Given the description of an element on the screen output the (x, y) to click on. 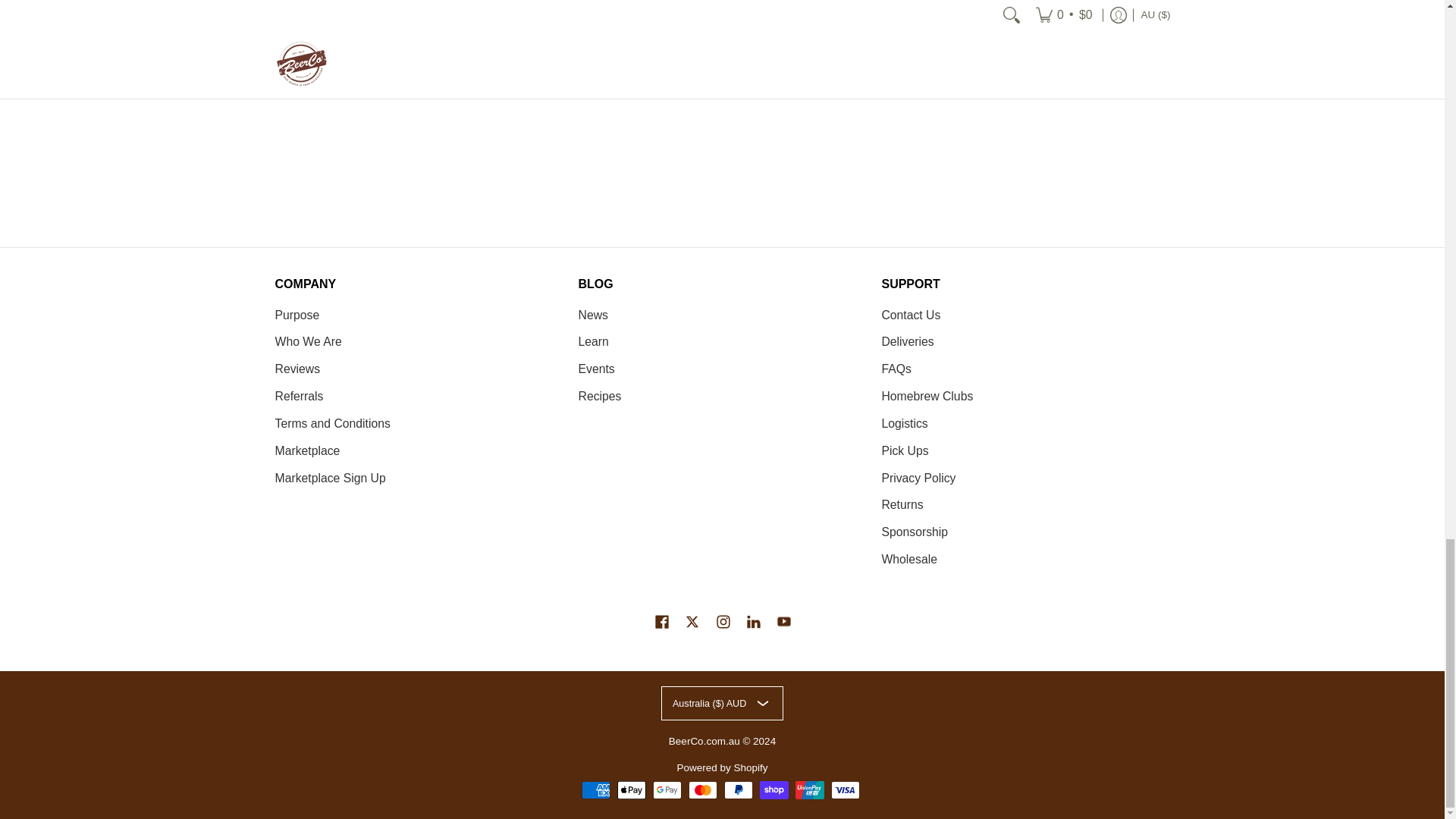
Apple Pay (631, 790)
American Express (595, 790)
